Given the description of an element on the screen output the (x, y) to click on. 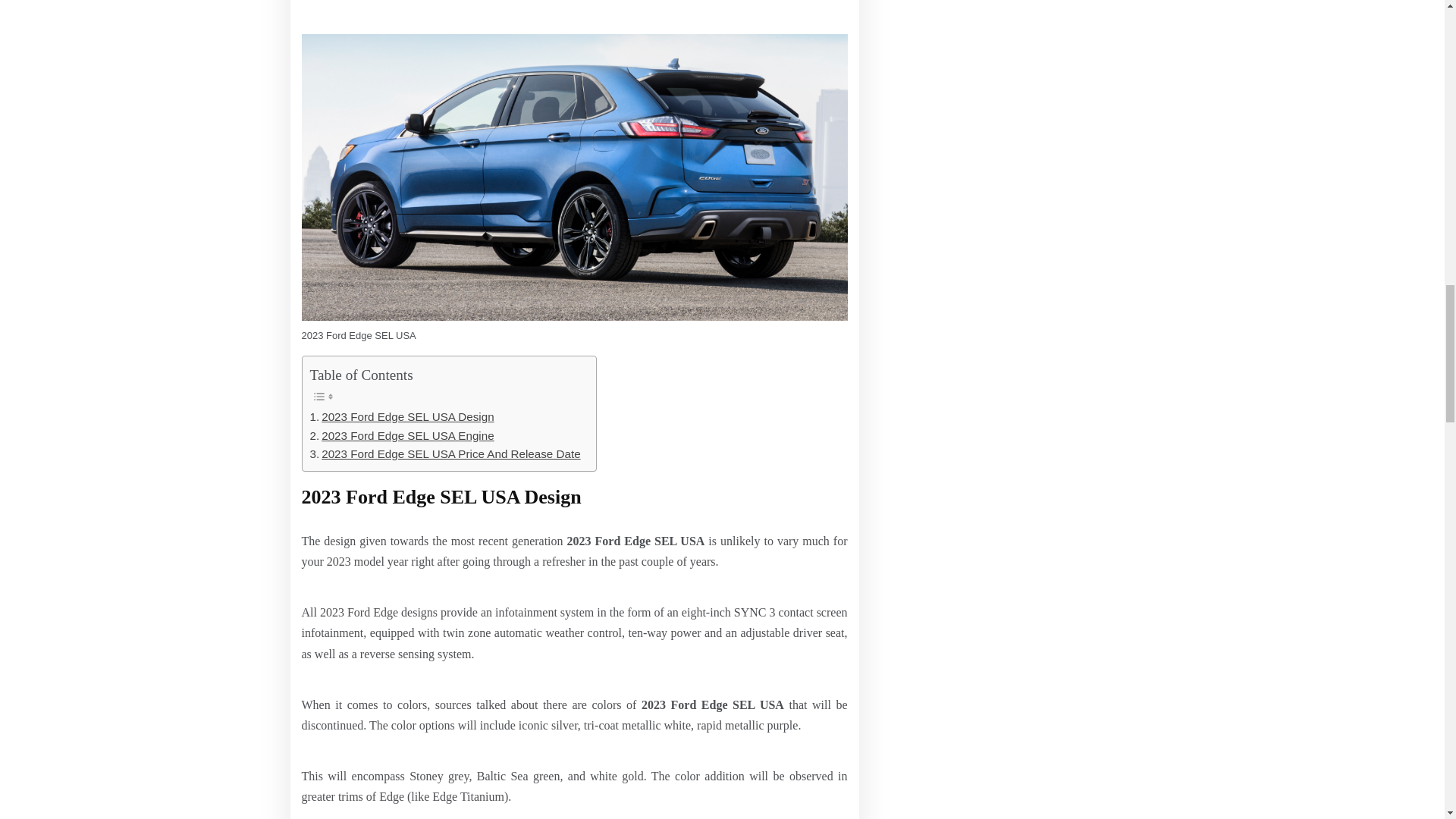
2023 Ford Edge SEL USA Price And Release Date (400, 435)
11 (443, 454)
2023 Ford Edge SEL USA Design (400, 435)
